Given the description of an element on the screen output the (x, y) to click on. 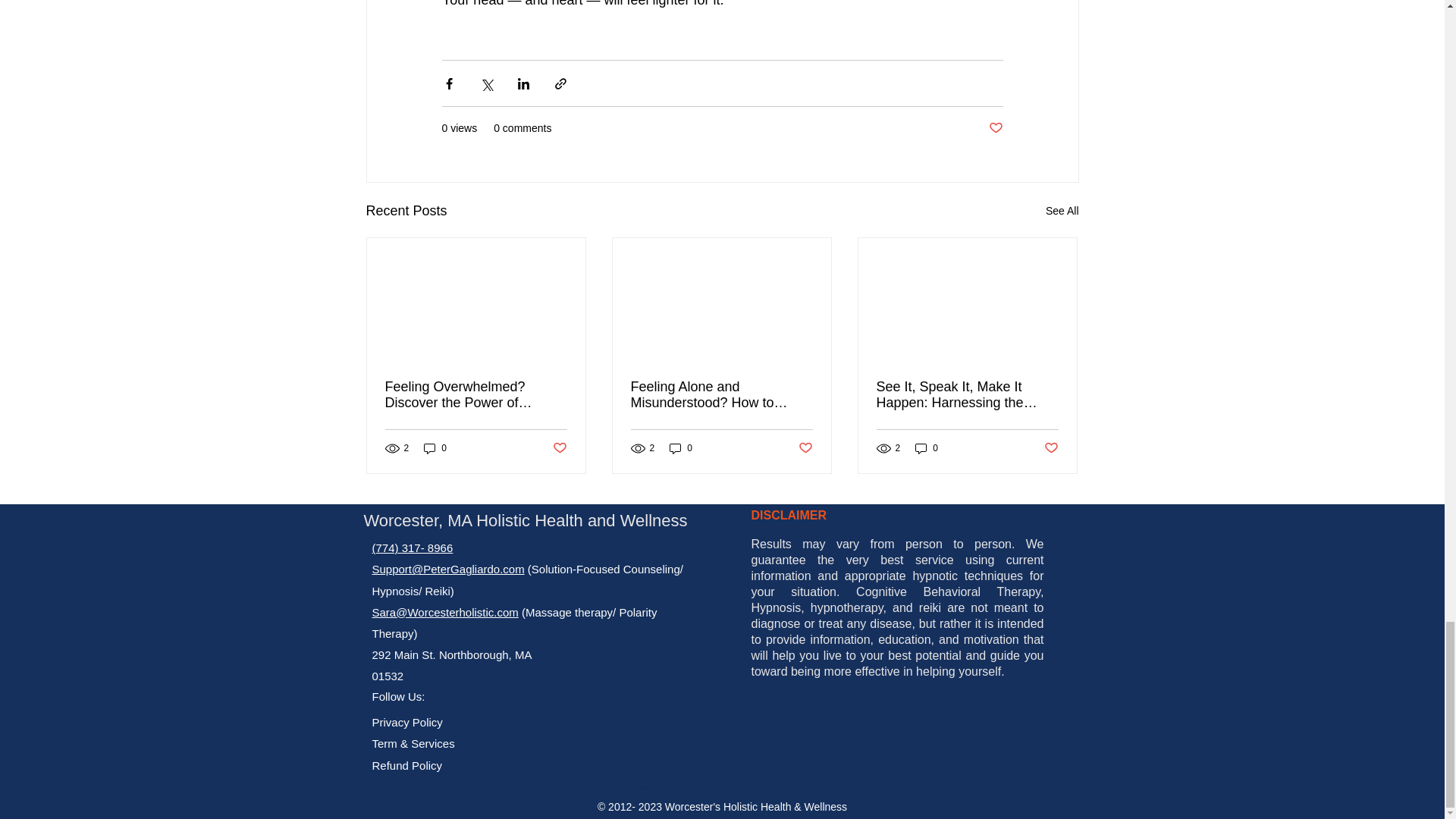
Post not marked as liked (558, 448)
Post not marked as liked (1050, 448)
See All (1061, 210)
0 (681, 448)
Post not marked as liked (995, 128)
0 (926, 448)
Worcester, MA Holistic Health and Wellness (524, 520)
0 (435, 448)
